Given the description of an element on the screen output the (x, y) to click on. 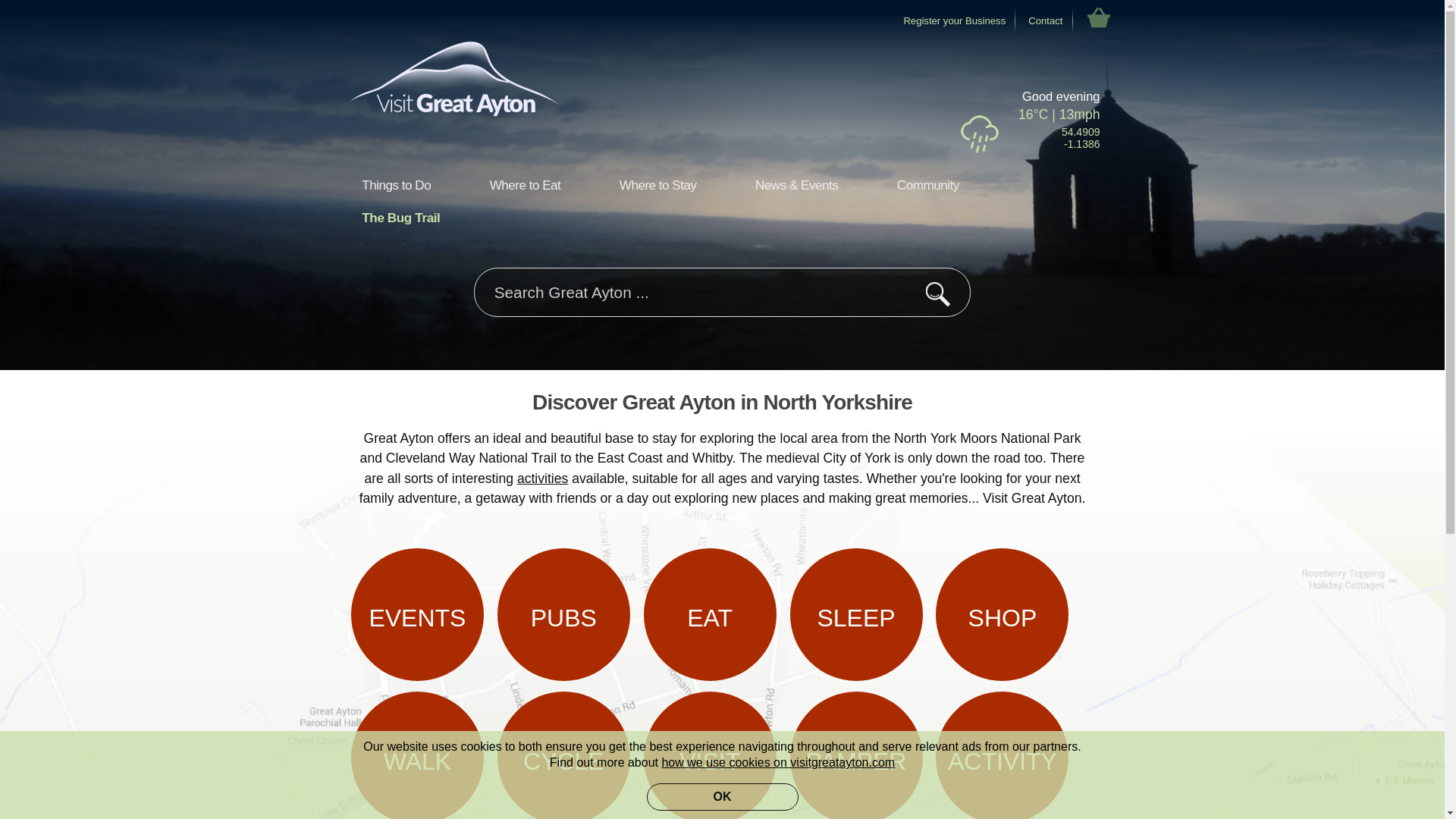
Basket (1097, 17)
Where to Stay (657, 186)
Things to Do in Great Ayton (1002, 755)
ACTIVITY (1002, 755)
VISIT (709, 755)
Search (937, 294)
CYCLE (563, 755)
Your Shopping Basket is empty (1097, 17)
PAMPER (856, 755)
Events in Great Ayton (416, 613)
SLEEP (856, 613)
Accommodation in Great Ayton (856, 613)
Great Ayton Bug Trail (400, 219)
Where to Eat (524, 186)
Contact info (1044, 20)
